Given the description of an element on the screen output the (x, y) to click on. 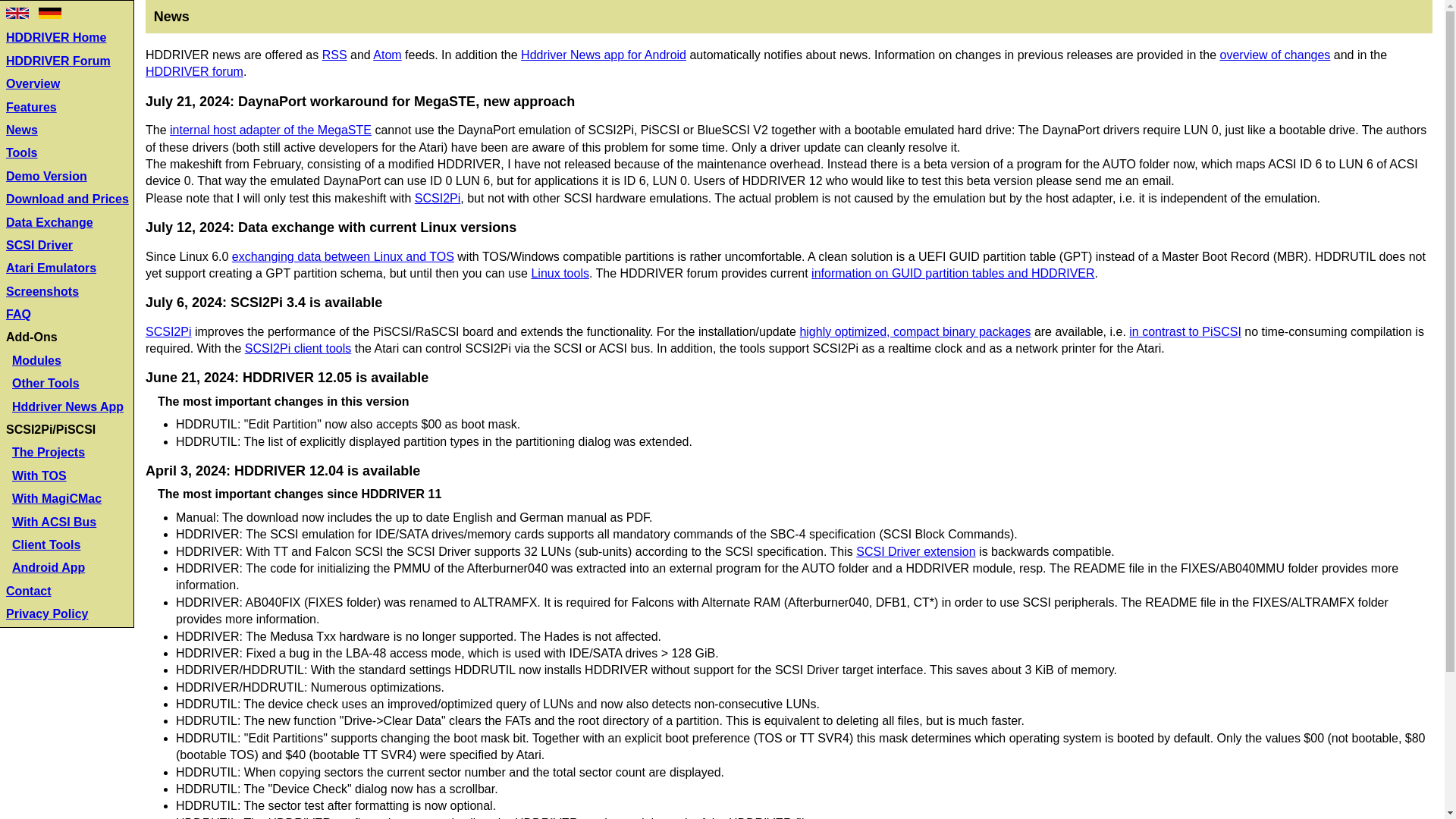
The Projects (47, 451)
Hddriver News app for Android (603, 54)
Tools (21, 152)
Atari Emulators (50, 267)
FAQ (17, 314)
Download and Prices (67, 198)
With ACSI Bus (53, 521)
Linux tools (560, 273)
overview of changes (1275, 54)
RSS (334, 54)
Demo Version (46, 175)
Atom (386, 54)
With MagiCMac (56, 498)
Client Tools (45, 544)
Modules (36, 359)
